Given the description of an element on the screen output the (x, y) to click on. 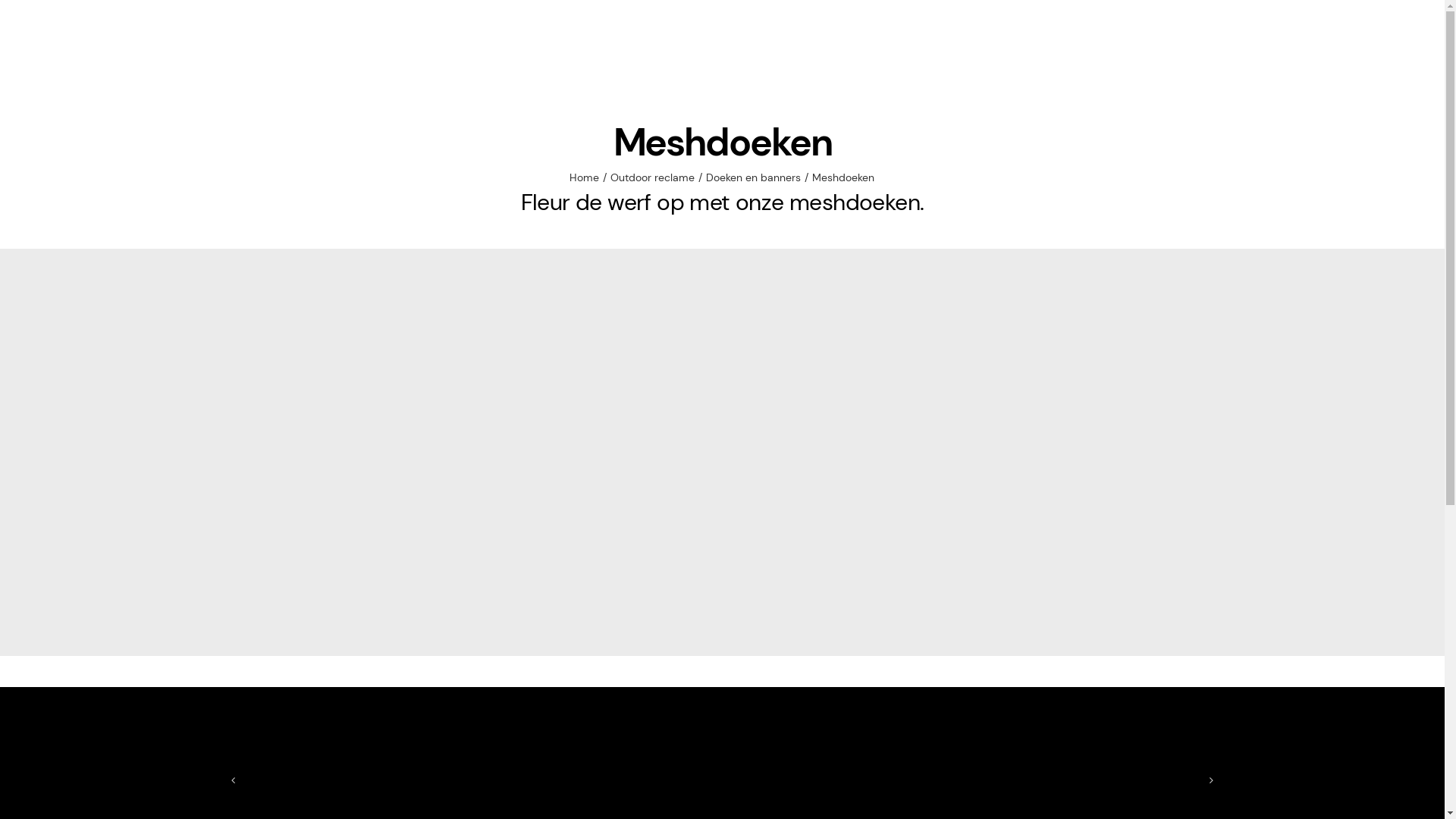
Home Element type: text (584, 177)
Doeken en banners Element type: text (753, 177)
Outdoor reclame Element type: text (652, 177)
